Given the description of an element on the screen output the (x, y) to click on. 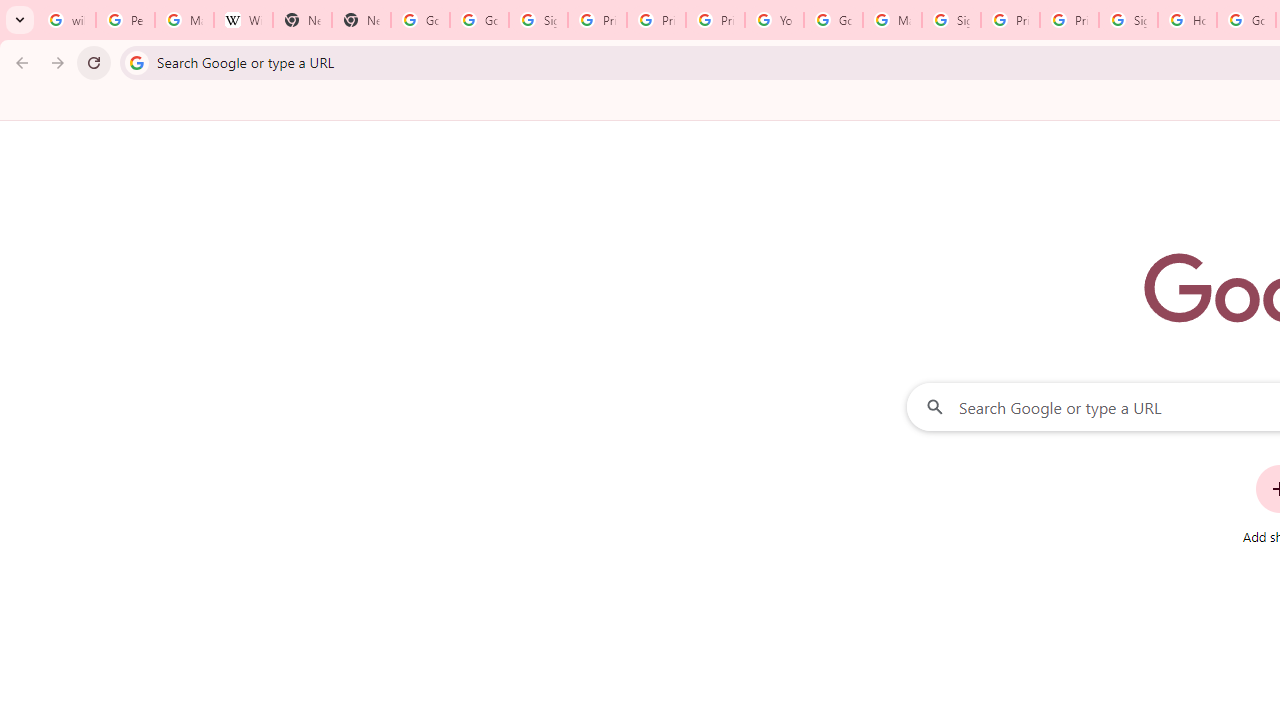
Google Account Help (832, 20)
Google Drive: Sign-in (479, 20)
Wikipedia:Edit requests - Wikipedia (242, 20)
Sign in - Google Accounts (950, 20)
